Given the description of an element on the screen output the (x, y) to click on. 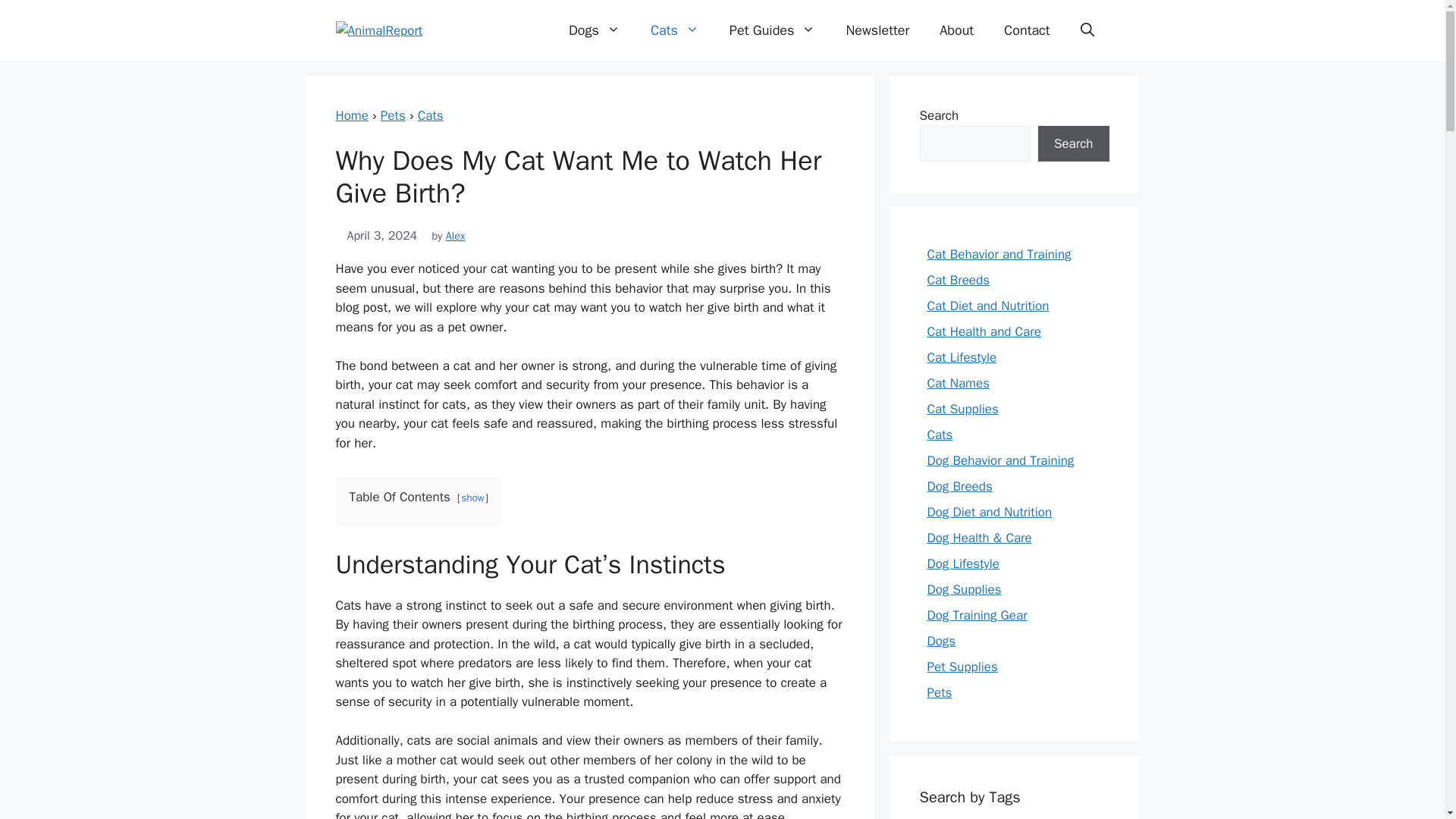
Home (351, 115)
Pet Guides (772, 30)
Pets (393, 115)
Cats (430, 115)
Cats (430, 115)
Dogs (593, 30)
About (956, 30)
Home (351, 115)
View all posts by Alex (455, 235)
show (472, 497)
Newsletter (876, 30)
Cats (674, 30)
Contact (1026, 30)
Pets (393, 115)
Alex (455, 235)
